Given the description of an element on the screen output the (x, y) to click on. 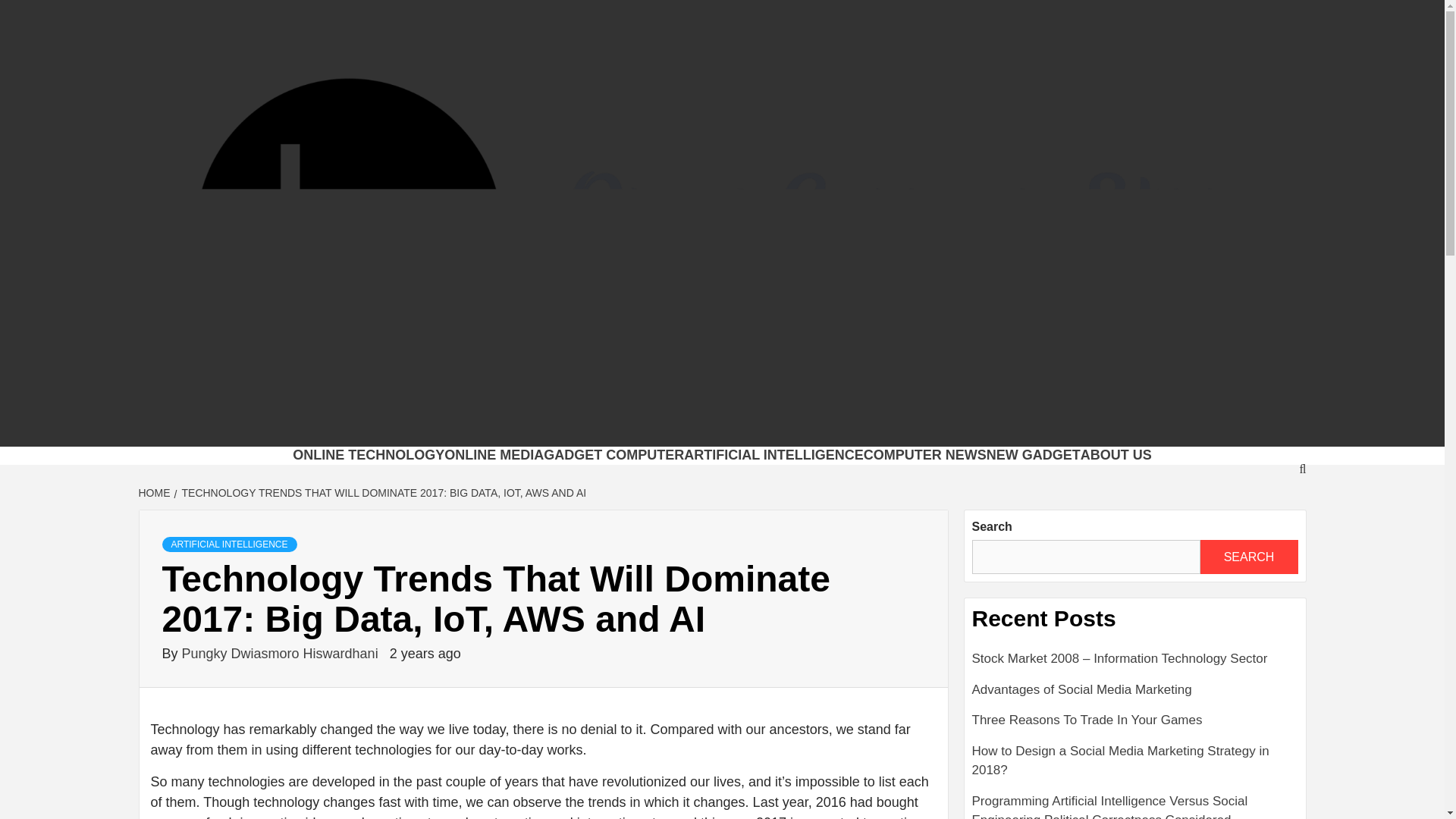
SEARCH (1248, 556)
ARTIFICIAL INTELLIGENCE (773, 454)
Advantages of Social Media Marketing (1135, 695)
ABOUT US (1115, 454)
ARTIFICIAL INTELLIGENCE (229, 544)
How to Design a Social Media Marketing Strategy in 2018? (1135, 766)
HOME (155, 492)
NEW GADGET (1033, 454)
Three Reasons To Trade In Your Games (1135, 726)
COMPUTER NEWS (925, 454)
Pungky Dwiasmoro Hiswardhani (281, 653)
GADGET COMPUTER (613, 454)
OPAS GERMANSTORE (555, 427)
